Given the description of an element on the screen output the (x, y) to click on. 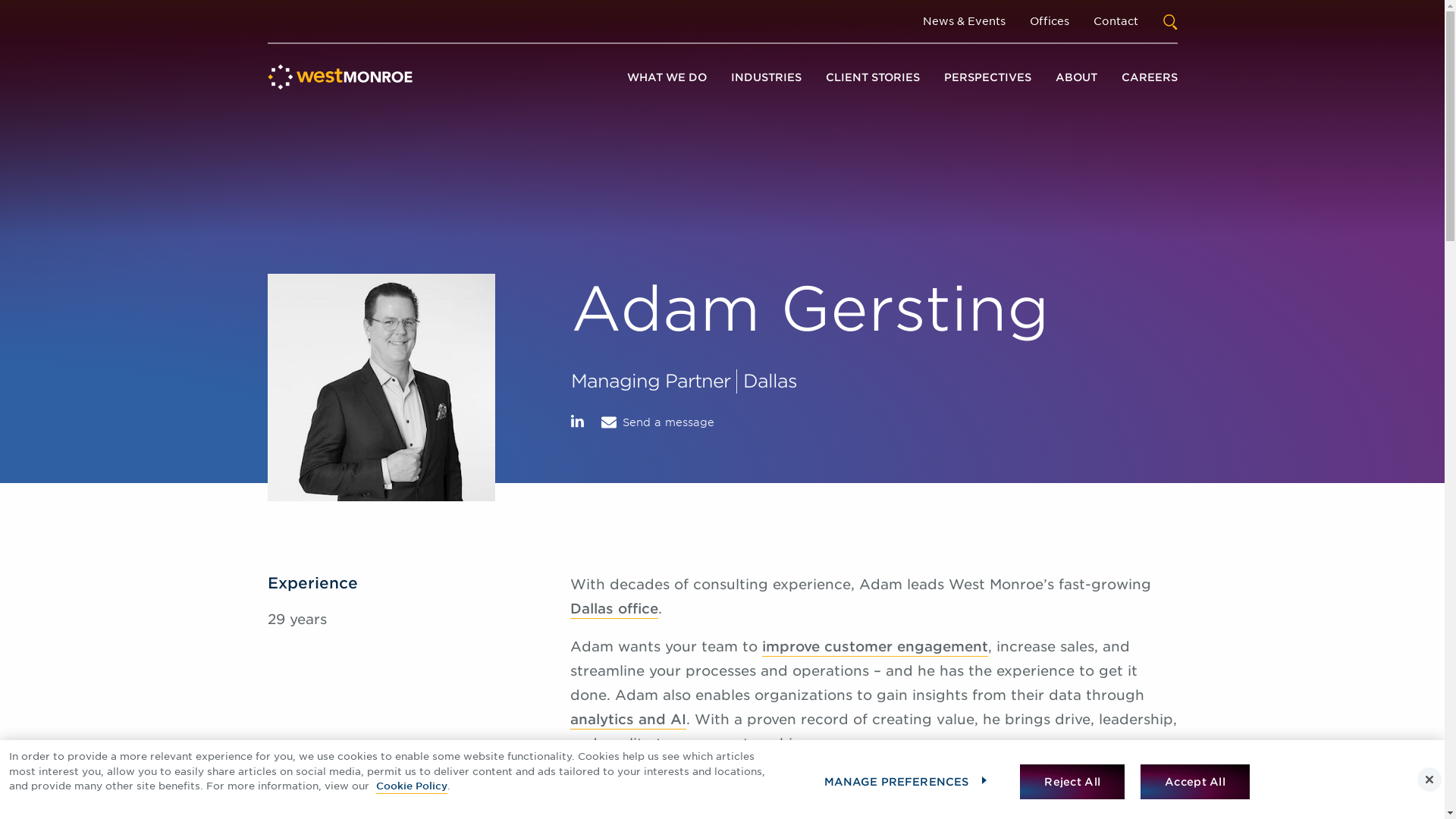
Contact (1115, 21)
Offices (1048, 21)
WHAT WE DO (666, 76)
